Given the description of an element on the screen output the (x, y) to click on. 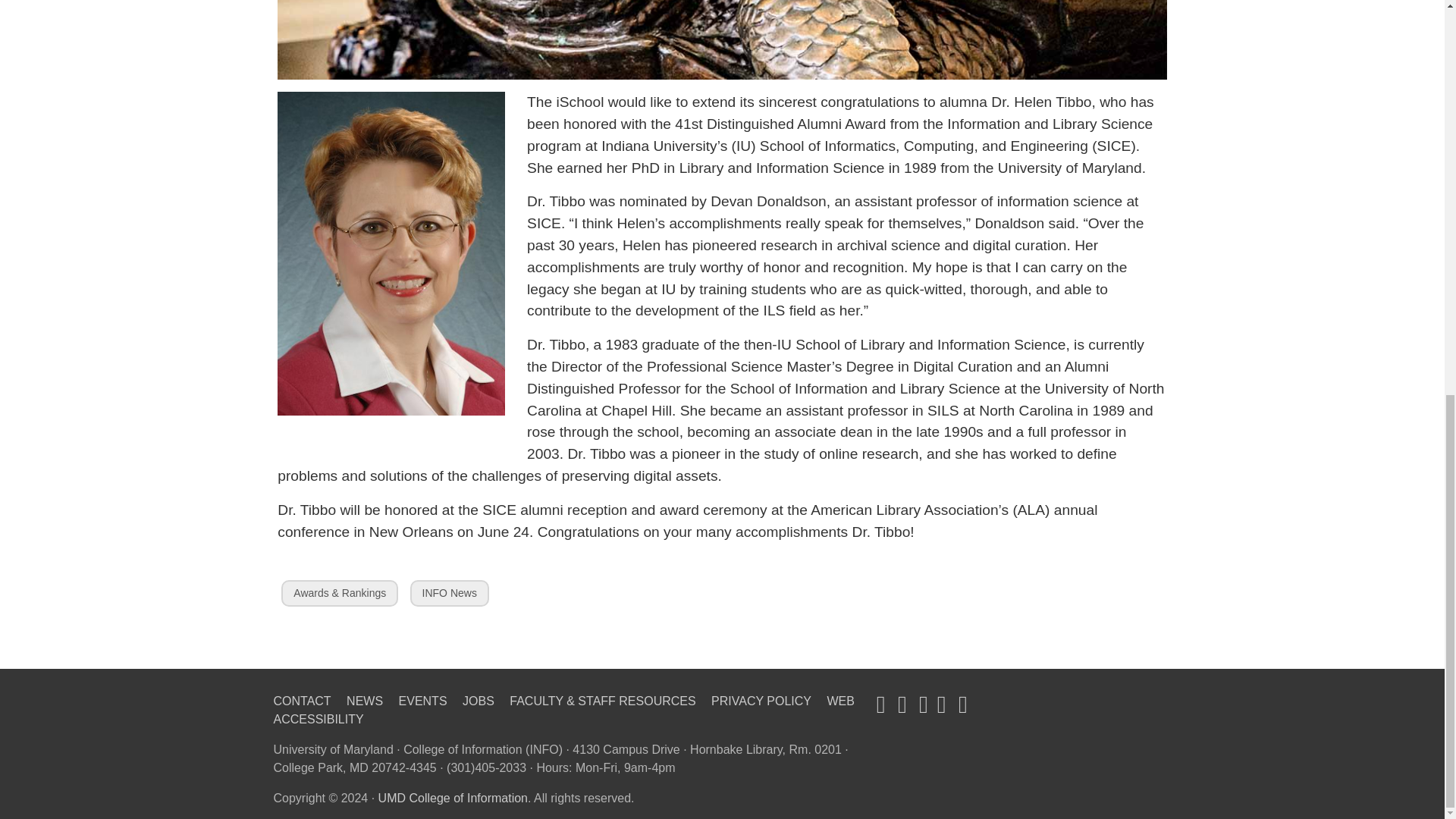
UMD iSchool Faculty and Staff Resources (602, 700)
Jobs at UMD iSchool (364, 700)
Jobs at UMD iSchool (479, 700)
Jobs at UMD iSchool (422, 700)
Contact UMD iSchool (301, 700)
UMD Web Acessibility (563, 709)
UMD Privacy Policy (760, 700)
